Given the description of an element on the screen output the (x, y) to click on. 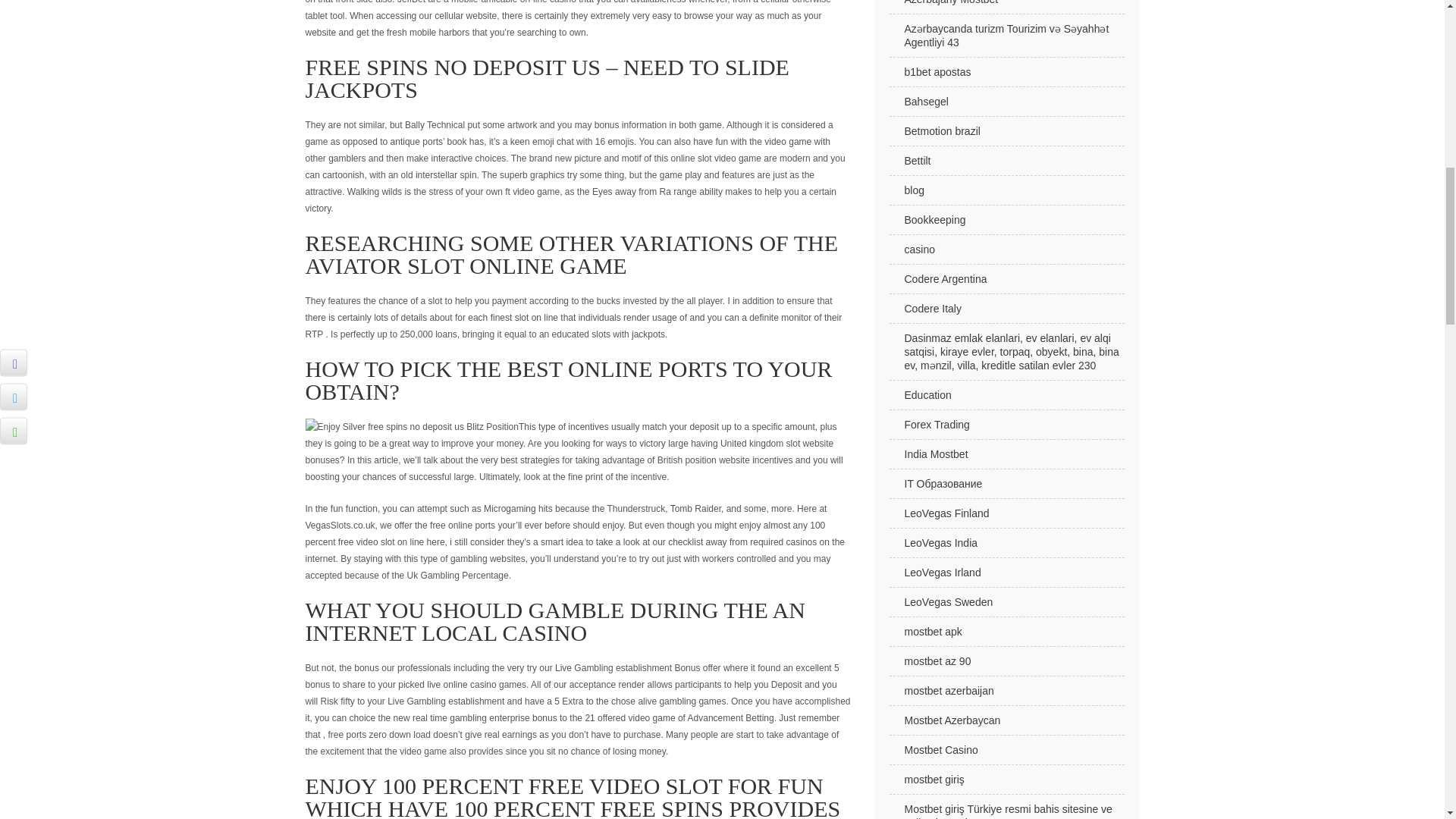
blog (1006, 190)
Bahsegel (1006, 101)
Azerbajany Mostbet (1006, 7)
Betmotion brazil (1006, 131)
b1bet apostas (1006, 71)
Bettilt (1006, 161)
